Given the description of an element on the screen output the (x, y) to click on. 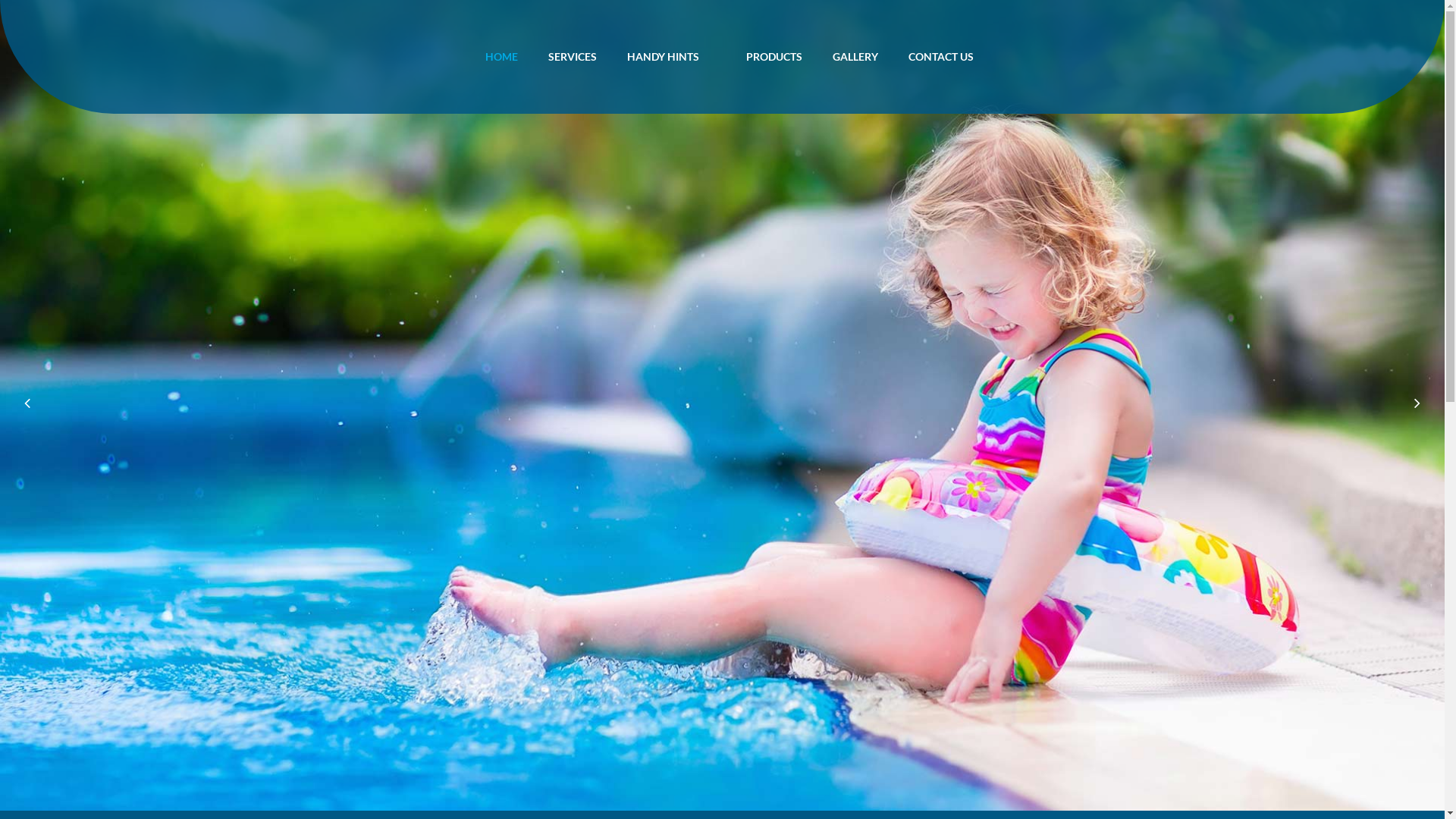
GALLERY Element type: text (855, 56)
CONTACT US Element type: text (940, 56)
SERVICES Element type: text (571, 56)
HANDY HINTS Element type: text (662, 56)
PRODUCTS Element type: text (774, 56)
HOME Element type: text (501, 56)
